Given the description of an element on the screen output the (x, y) to click on. 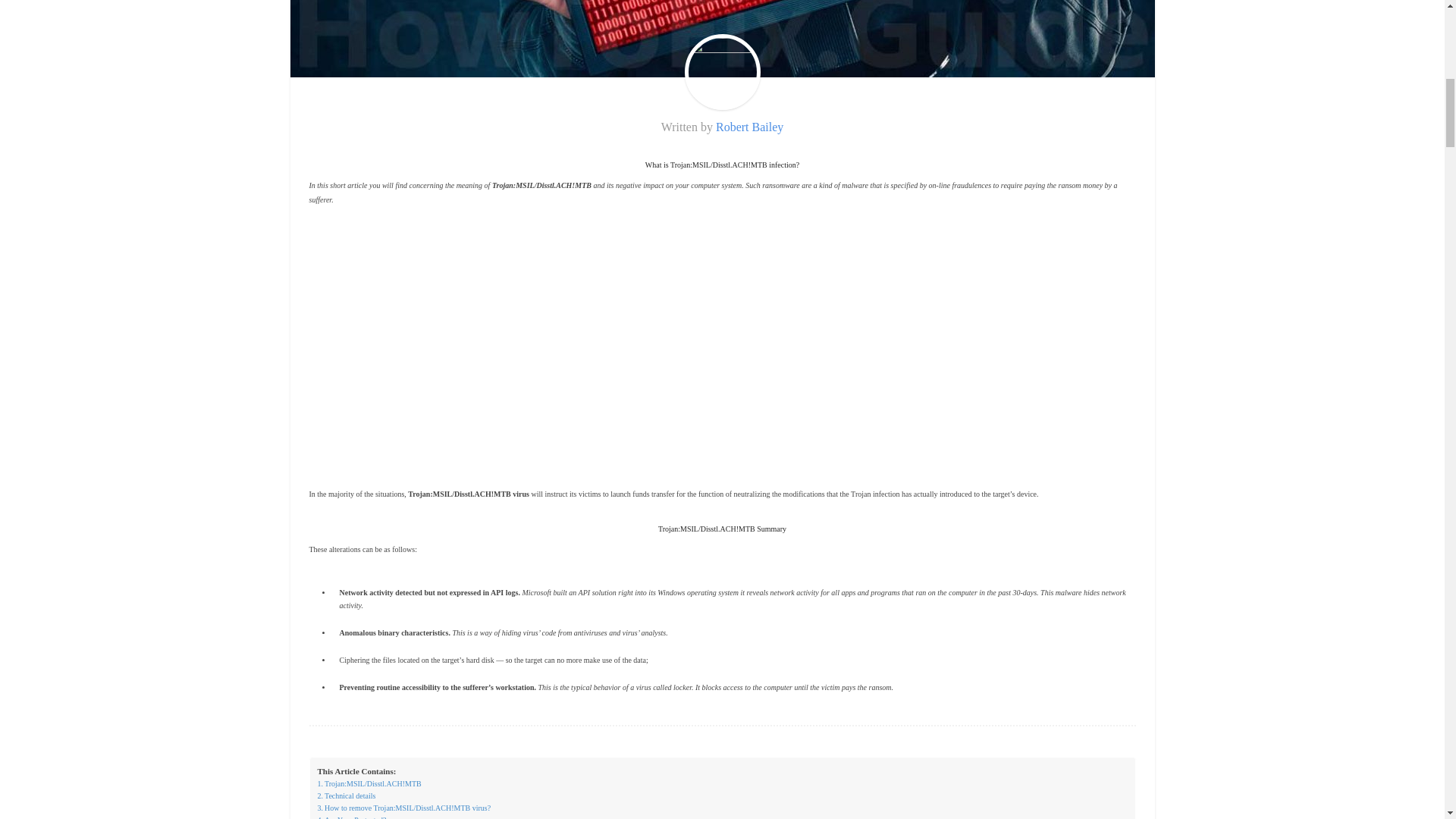
Technical details (346, 796)
Technical details (346, 796)
Robert Bailey (749, 126)
Are Your Protected? (351, 816)
Are Your Protected? (351, 816)
